Given the description of an element on the screen output the (x, y) to click on. 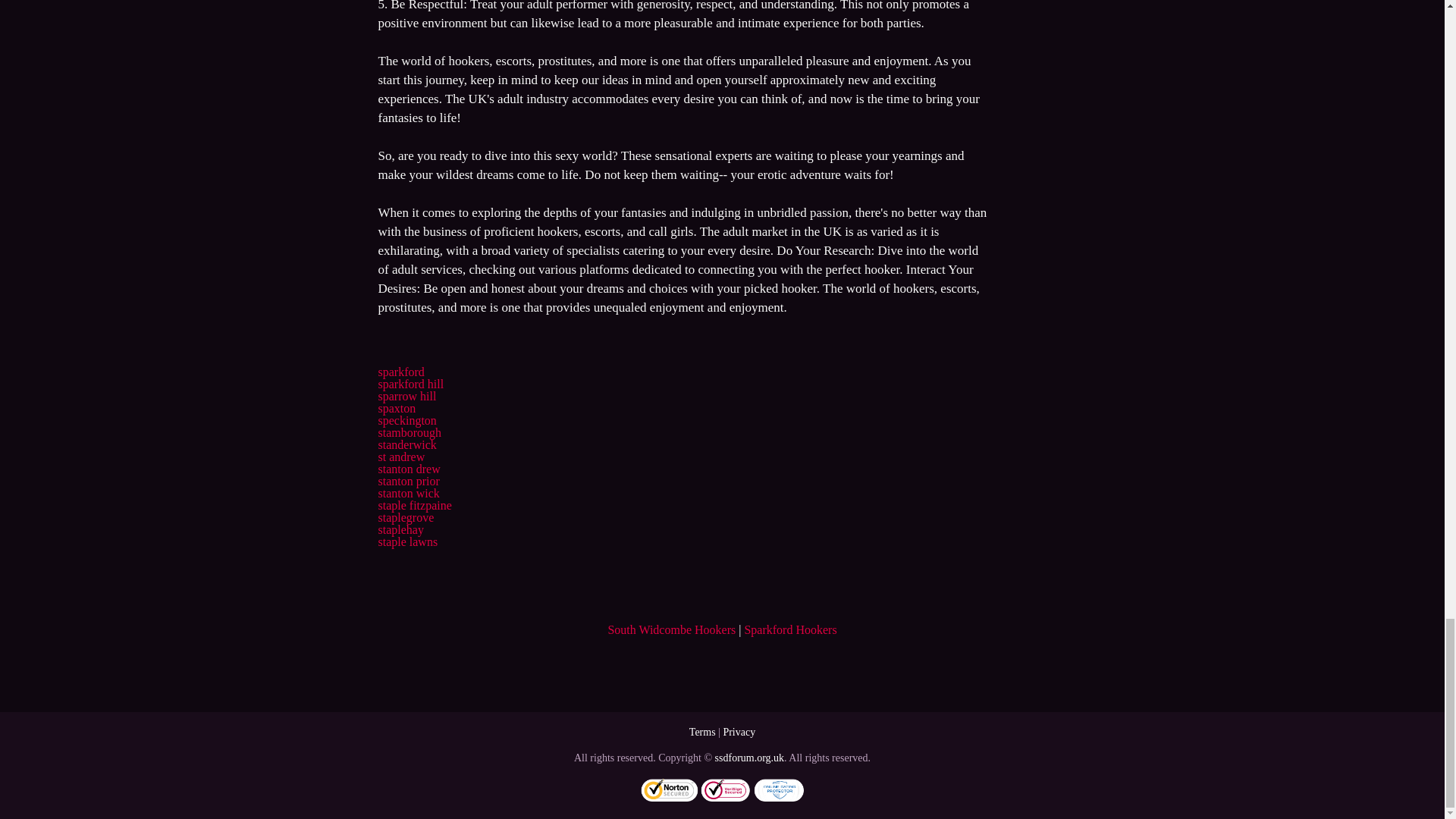
speckington (406, 420)
staplehay (400, 529)
stanton drew (408, 468)
stamborough (409, 431)
stanton wick (408, 492)
standerwick (406, 444)
staple fitzpaine (414, 504)
staple lawns (407, 541)
sparkford hill (410, 383)
staplegrove (405, 517)
ssdforum.org.uk (749, 757)
Privacy (738, 731)
Privacy (738, 731)
Terms (702, 731)
sparkford (400, 371)
